Given the description of an element on the screen output the (x, y) to click on. 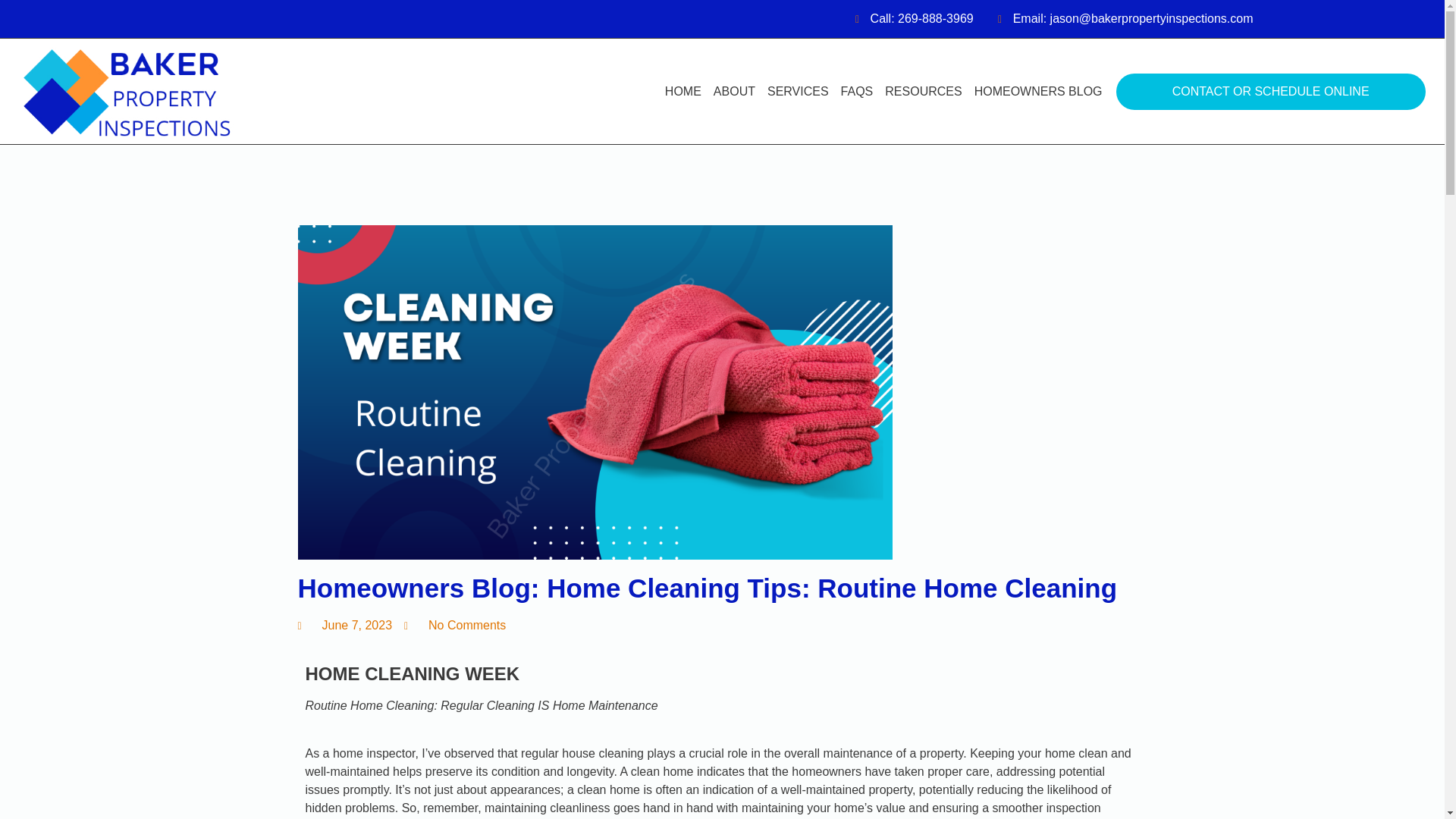
SERVICES (797, 91)
RESOURCES (923, 91)
FAQS (856, 91)
HOMEOWNERS BLOG (1038, 91)
link to home page (164, 93)
ABOUT (734, 91)
Call: 269-888-3969 (909, 18)
HOME (683, 91)
